Given the description of an element on the screen output the (x, y) to click on. 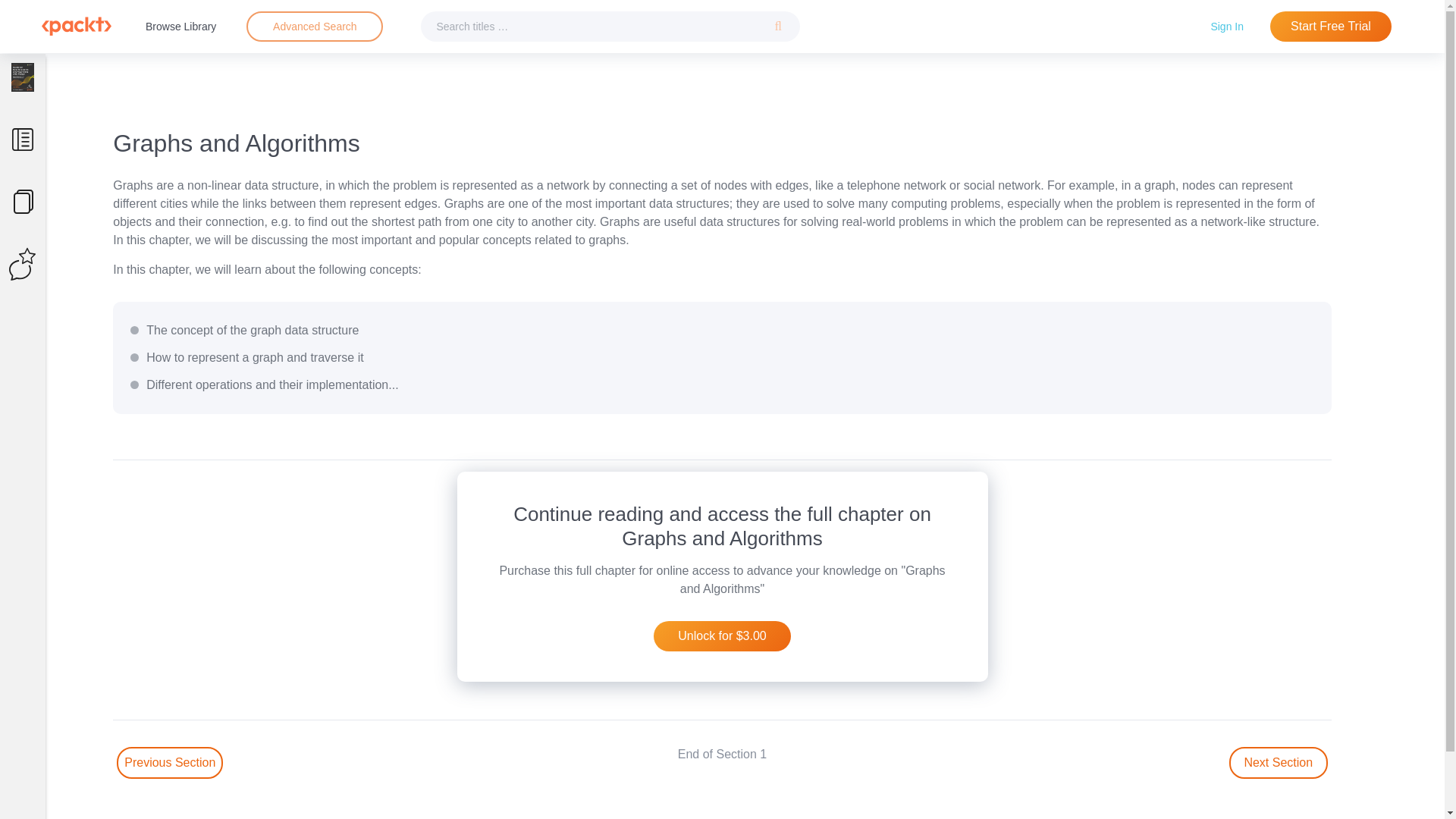
Go to next section (1277, 762)
Advanced Search (315, 26)
Go to Previous section (169, 762)
Sign In (1227, 26)
Advanced Search (314, 26)
Start Free Trial (1330, 26)
Advanced search (314, 26)
Browse Library (180, 26)
